Given the description of an element on the screen output the (x, y) to click on. 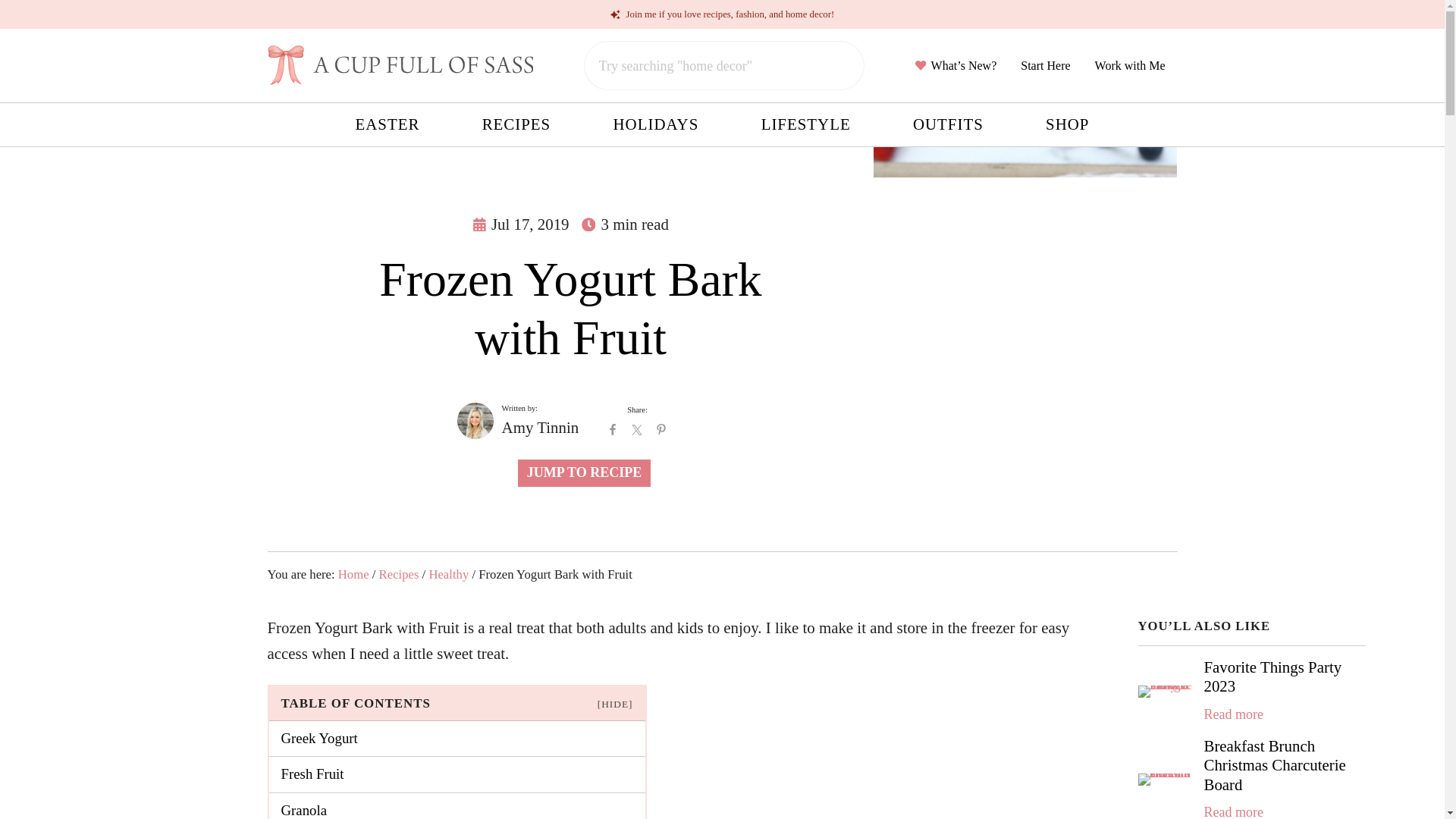
Granola (457, 806)
Healthy (448, 574)
JUMP TO RECIPE (584, 472)
Share on Pinterest (660, 428)
LIFESTYLE (806, 124)
Join me if you love recipes, fashion, and home decor! (722, 14)
Home (353, 574)
Share on Twitter (636, 428)
Granola (457, 806)
Greek Yogurt (457, 738)
